Given the description of an element on the screen output the (x, y) to click on. 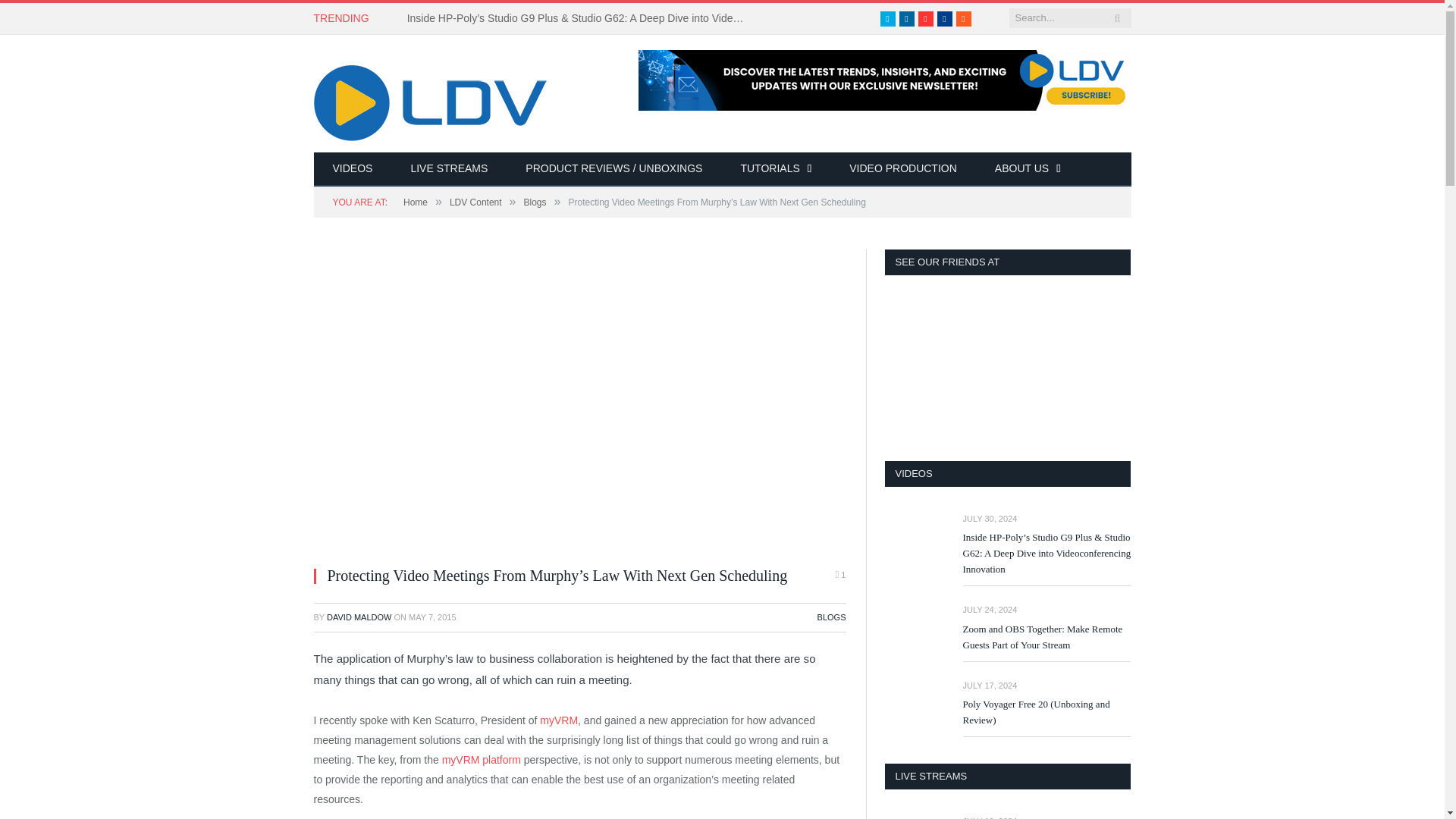
Twitter (887, 18)
myVRM platform (481, 759)
LIVE STREAMS (448, 169)
LDV Content (475, 202)
Blogs (535, 202)
BLOGS (830, 616)
Facebook (944, 18)
TUTORIALS (774, 169)
VIDEOS (352, 169)
LinkedIn (906, 18)
